Given the description of an element on the screen output the (x, y) to click on. 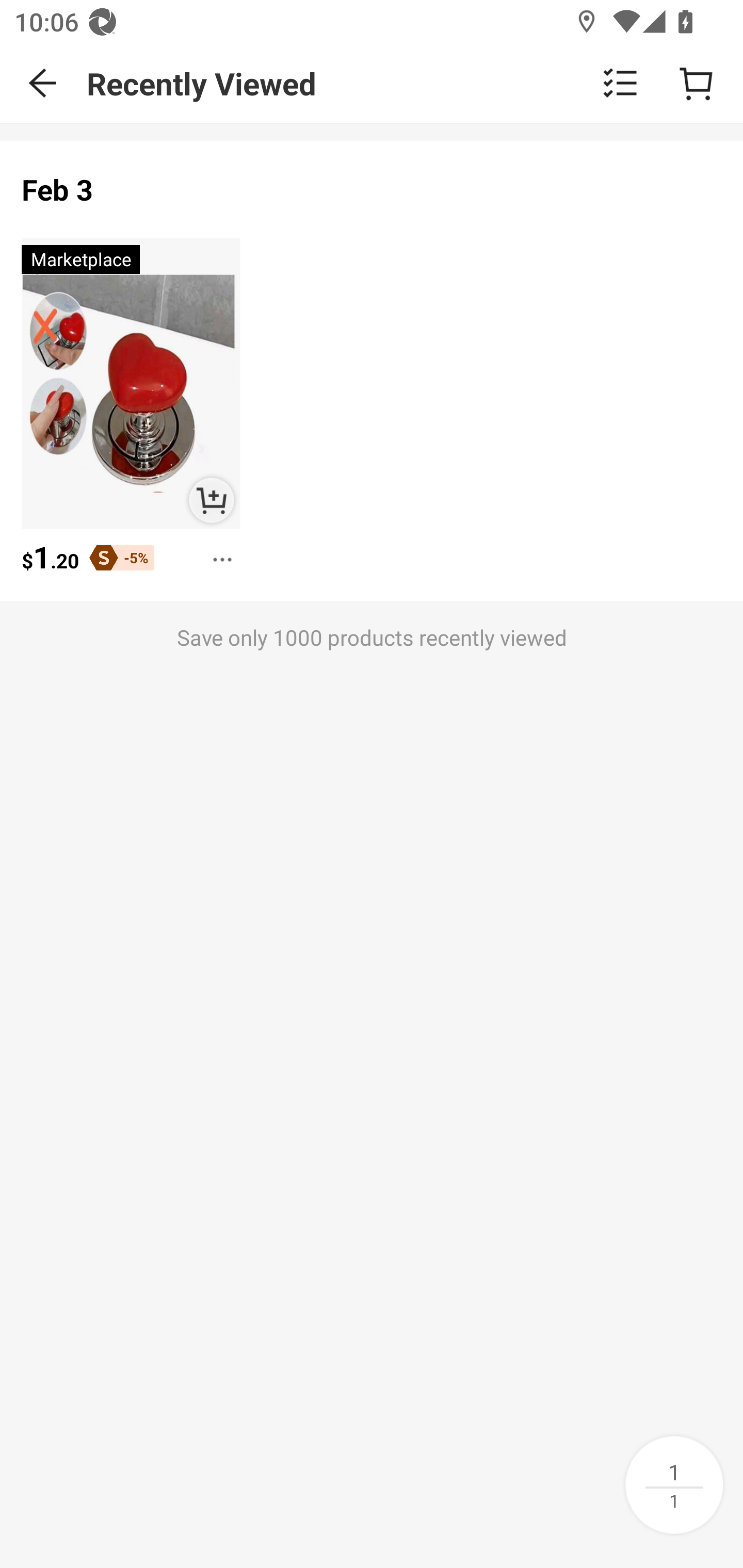
Recently Viewed change view (414, 82)
change view (620, 82)
BACK (43, 83)
Feb 3 (57, 189)
ADD TO CART (211, 500)
MORE (216, 553)
Save only 1000 products recently viewed (371, 680)
1 (674, 1484)
